Given the description of an element on the screen output the (x, y) to click on. 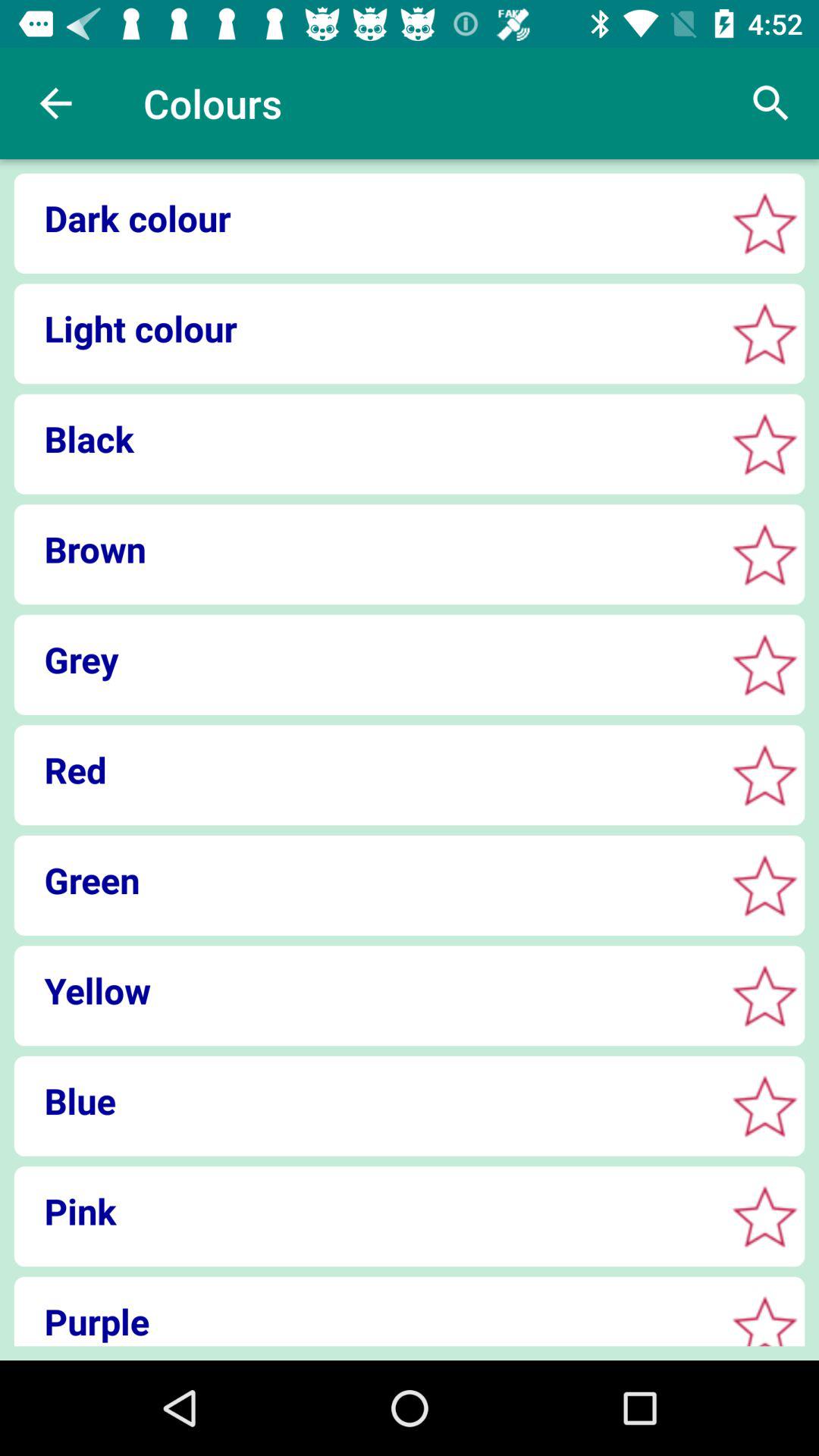
grey review button (764, 664)
